Given the description of an element on the screen output the (x, y) to click on. 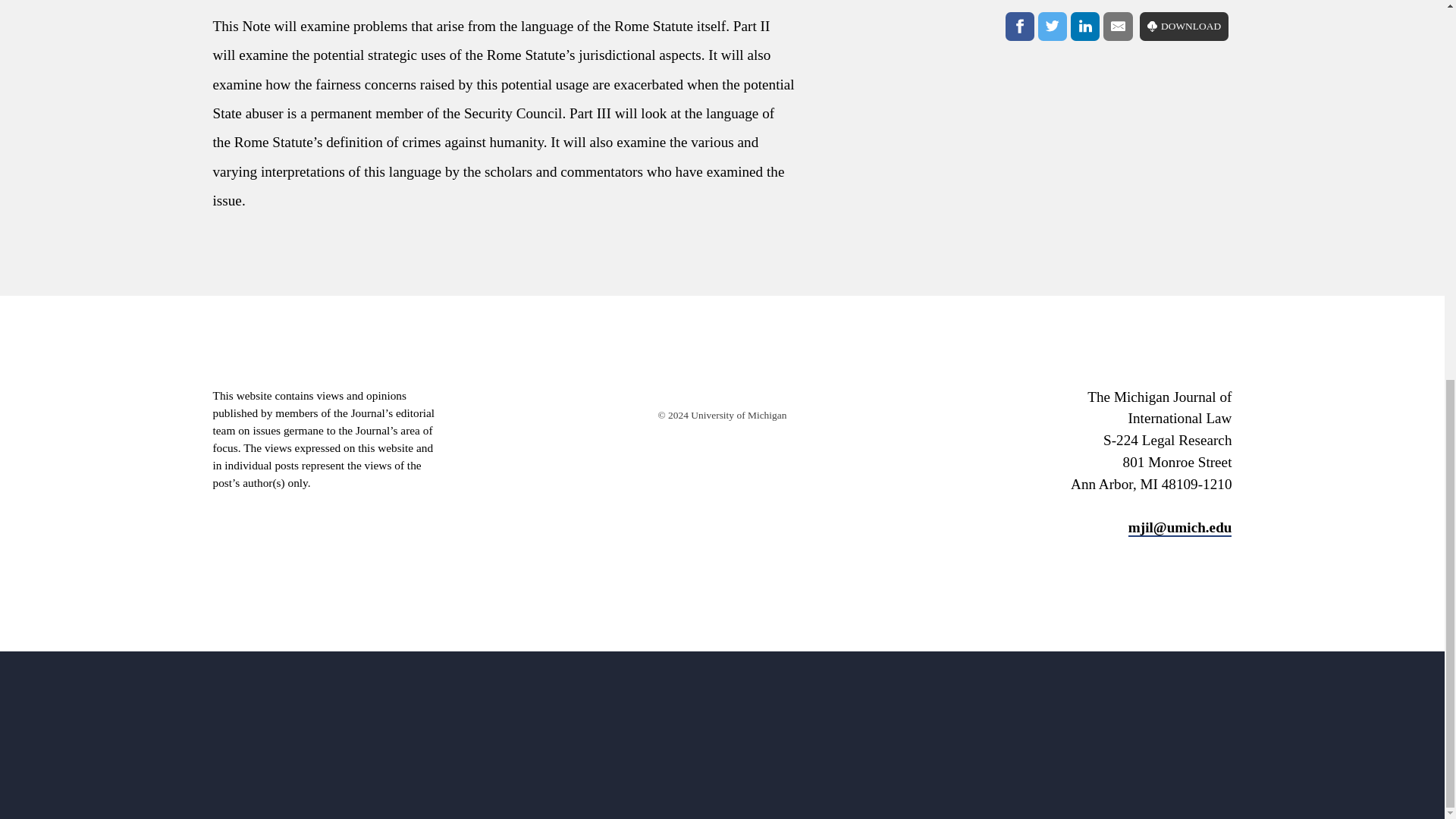
DOWNLOAD (1184, 26)
Facebook (1019, 26)
LinkedIn (1084, 26)
Twitter (1052, 26)
E-Mail (1117, 26)
